Given the description of an element on the screen output the (x, y) to click on. 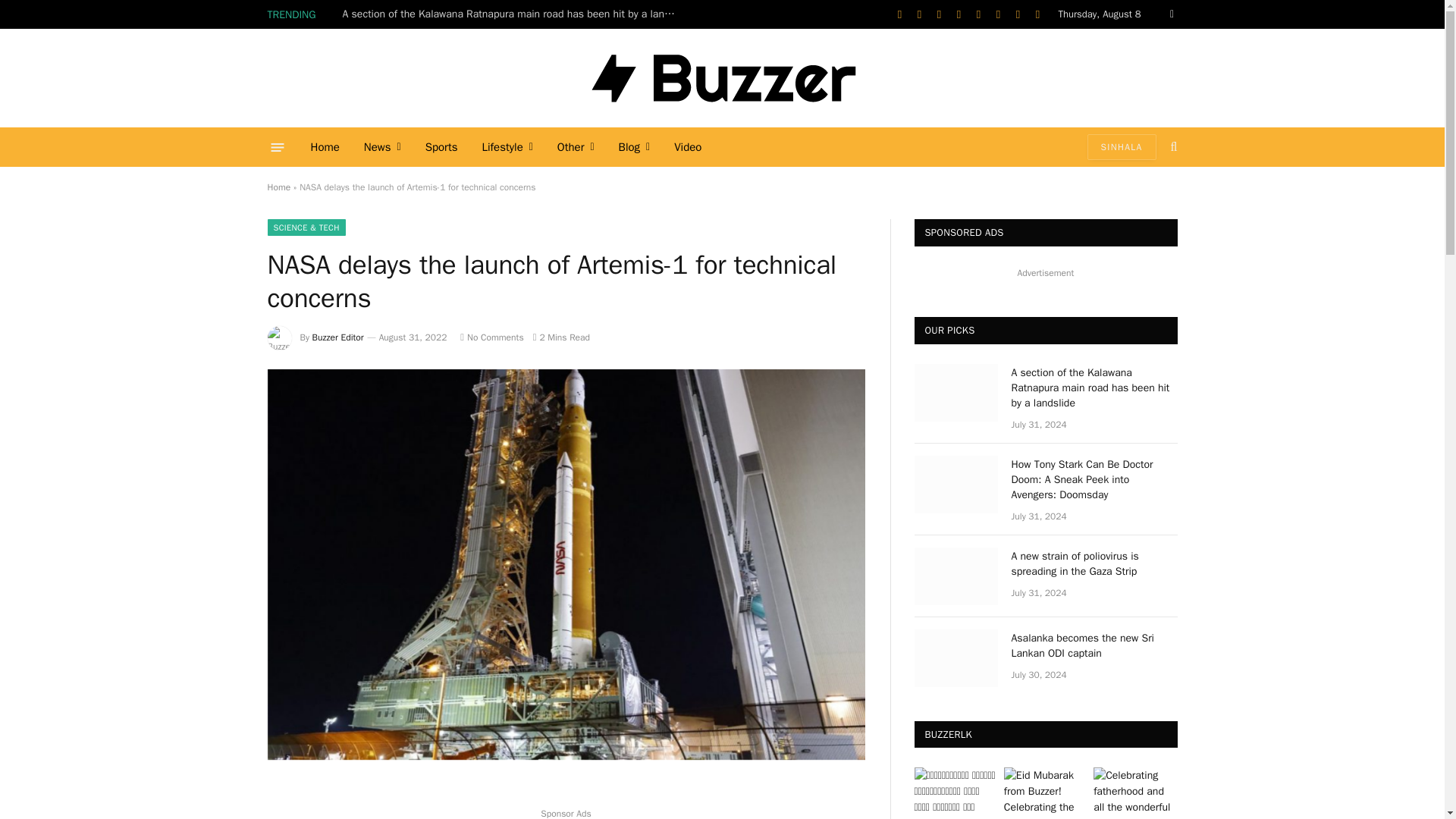
Posts by Buzzer Editor (338, 337)
Buzzer (722, 78)
Switch to Dark Design - easier on eyes. (1170, 14)
